Given the description of an element on the screen output the (x, y) to click on. 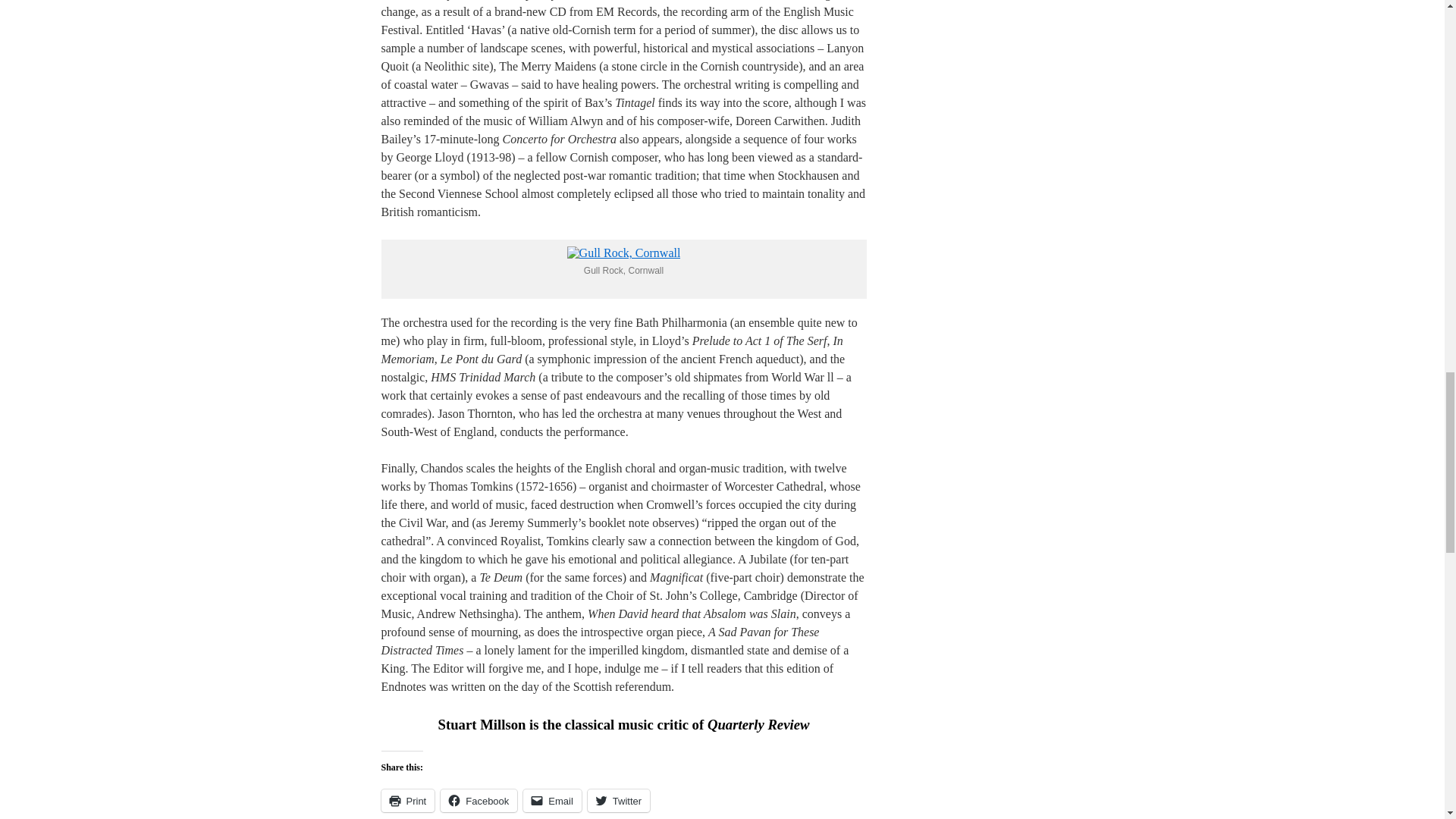
Email (551, 800)
Click to print (406, 800)
Click to email a link to a friend (551, 800)
Click to share on Facebook (478, 800)
Twitter (618, 800)
Facebook (478, 800)
Click to share on Twitter (618, 800)
Print (406, 800)
